Given the description of an element on the screen output the (x, y) to click on. 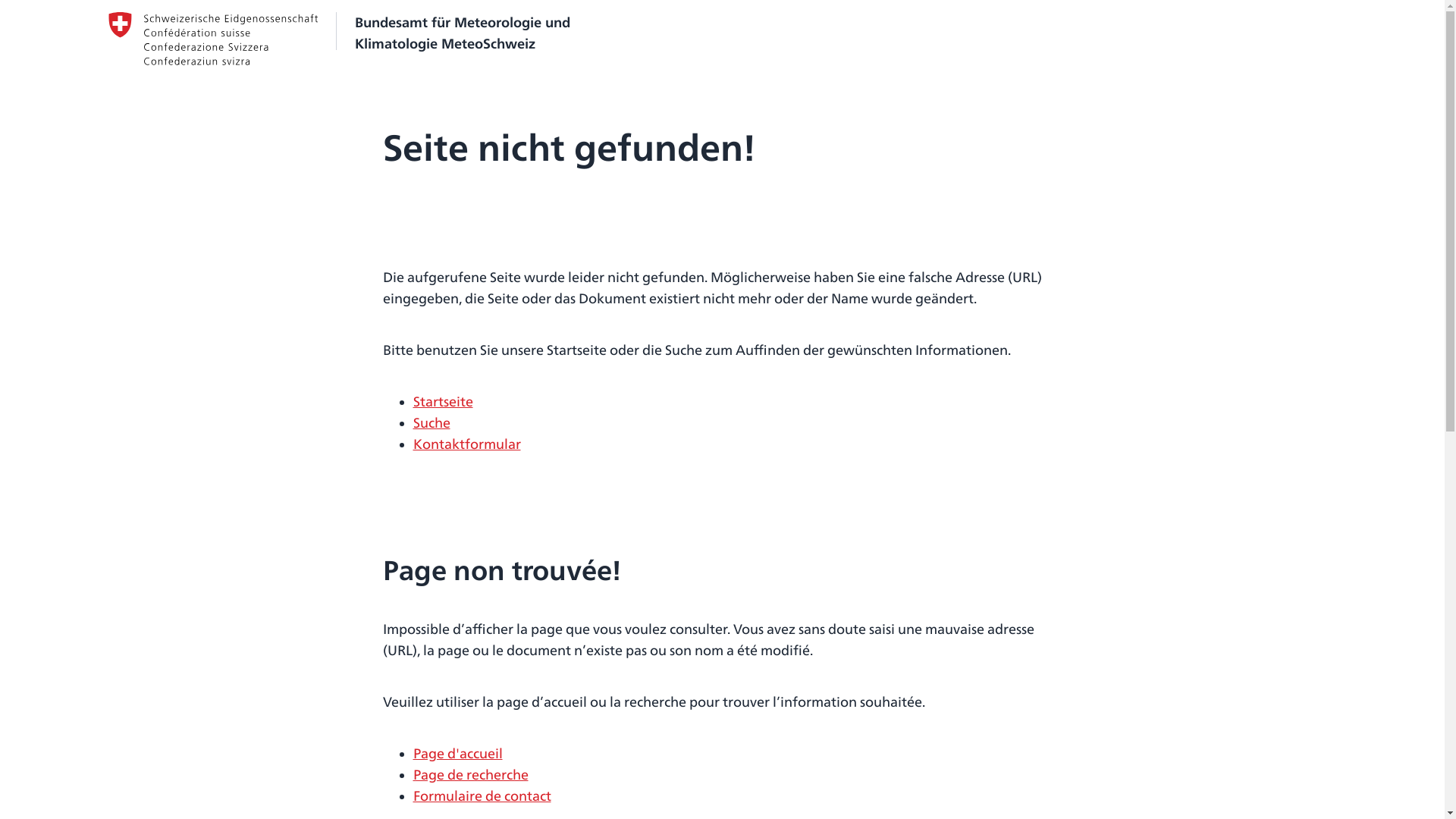
Kontaktformular Element type: text (466, 444)
Formulaire de contact Element type: text (481, 795)
Startseite Element type: text (442, 401)
Suche Element type: text (430, 422)
Page de recherche Element type: text (469, 774)
Page d'accueil Element type: text (457, 753)
